Given the description of an element on the screen output the (x, y) to click on. 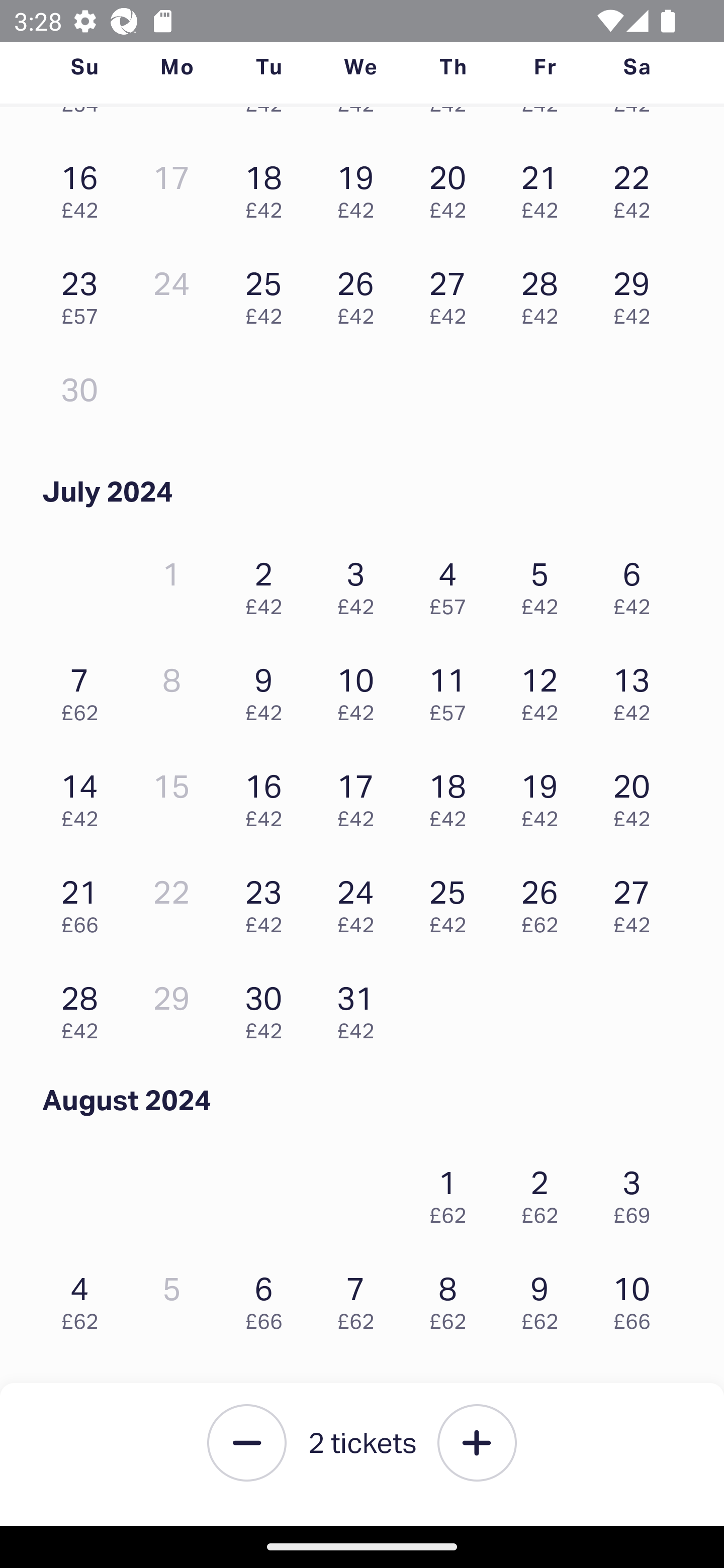
16 £42 (84, 186)
18 £42 (268, 186)
19 £42 (360, 186)
20 £42 (452, 186)
21 £42 (544, 186)
22 £42 (636, 186)
23 £57 (84, 293)
25 £42 (268, 293)
26 £42 (360, 293)
27 £42 (452, 293)
28 £42 (544, 293)
29 £42 (636, 293)
2 £42 (268, 583)
3 £42 (360, 583)
4 £57 (452, 583)
5 £42 (544, 583)
6 £42 (636, 583)
7 £62 (84, 688)
9 £42 (268, 688)
10 £42 (360, 688)
11 £57 (452, 688)
12 £42 (544, 688)
13 £42 (636, 688)
14 £42 (84, 795)
16 £42 (268, 795)
17 £42 (360, 795)
18 £42 (452, 795)
19 £42 (544, 795)
20 £42 (636, 795)
21 £66 (84, 901)
23 £42 (268, 901)
24 £42 (360, 901)
25 £42 (452, 901)
26 £62 (544, 901)
27 £42 (636, 901)
28 £42 (84, 1007)
30 £42 (268, 1007)
31 £42 (360, 1007)
1 £62 (452, 1192)
2 £62 (544, 1192)
3 £69 (636, 1192)
4 £62 (84, 1298)
6 £66 (268, 1298)
7 £62 (360, 1298)
8 £62 (452, 1298)
9 £62 (544, 1298)
10 £66 (636, 1298)
